Given the description of an element on the screen output the (x, y) to click on. 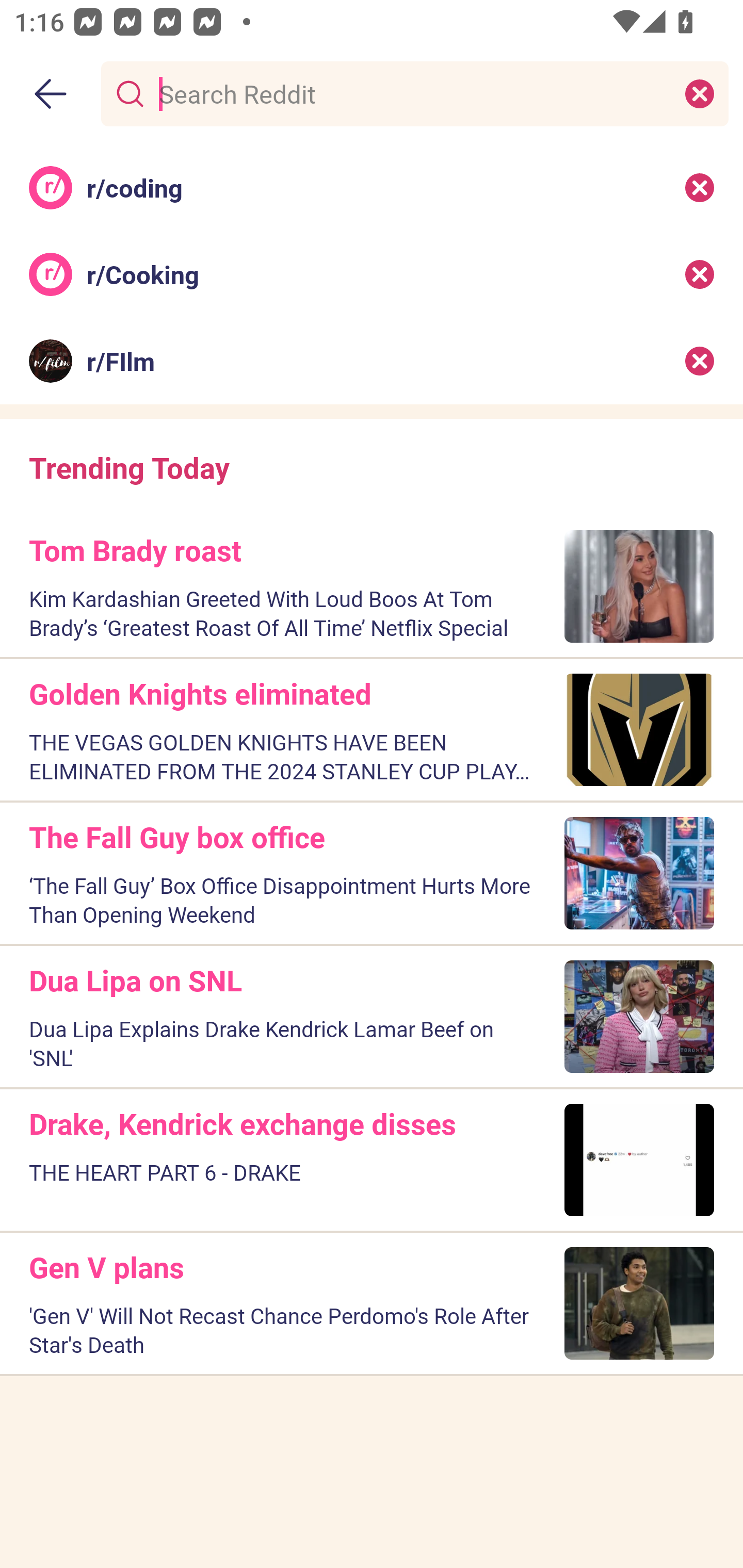
Back (50, 93)
Search Reddit (410, 93)
Clear search (699, 93)
r/coding Recent search: r/coding Remove (371, 187)
Remove (699, 187)
r/Cooking Recent search: r/Cooking Remove (371, 274)
Remove (699, 274)
r/FIlm Recent search: r/FIlm Remove (371, 361)
Remove (699, 361)
